Given the description of an element on the screen output the (x, y) to click on. 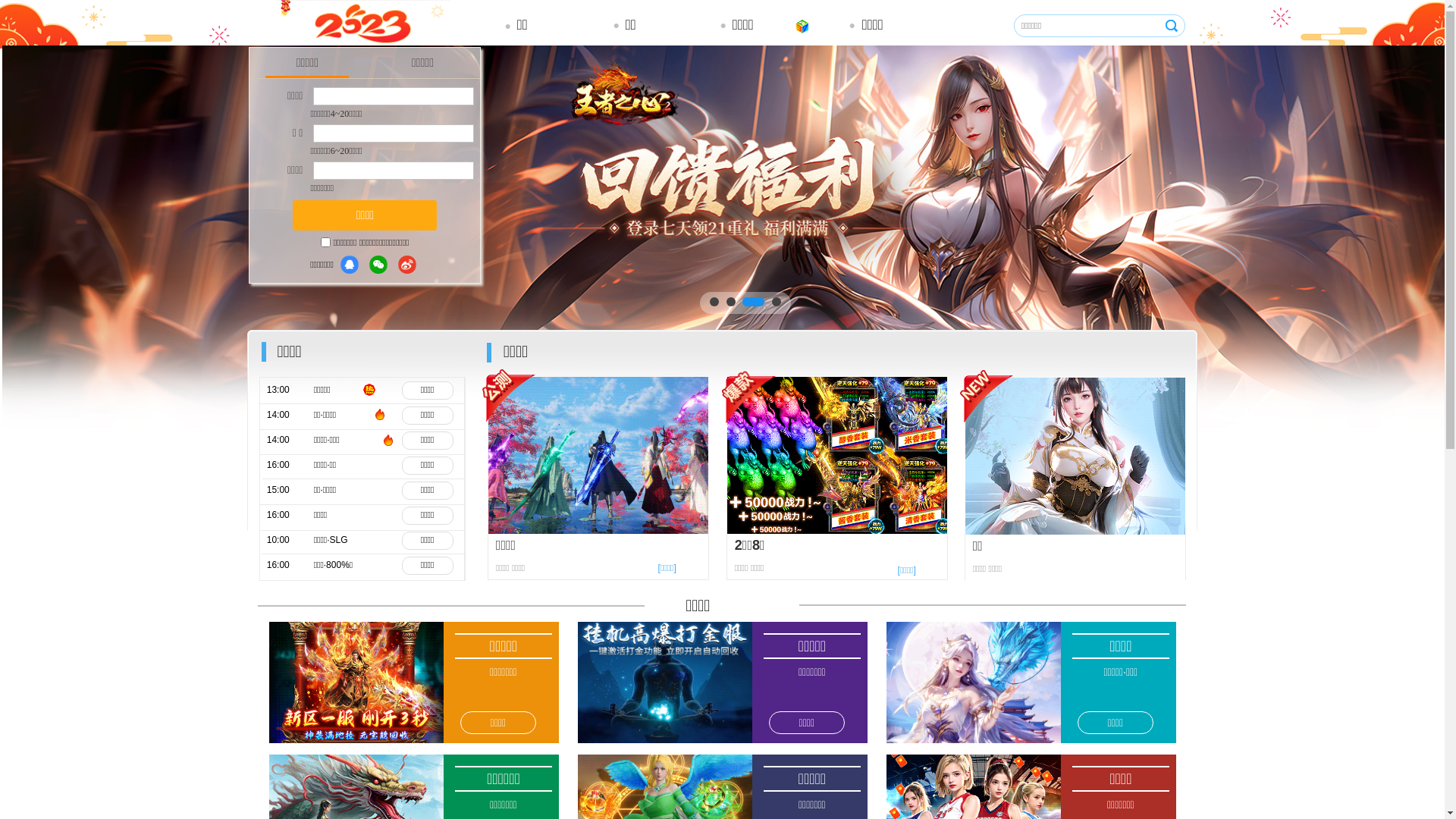
14:00 Element type: text (288, 414)
15:00 Element type: text (288, 490)
16:00 Element type: text (288, 515)
16:00 Element type: text (288, 565)
10:00 Element type: text (288, 540)
16:00 Element type: text (288, 464)
13:00 Element type: text (288, 389)
14:00 Element type: text (288, 439)
